Given the description of an element on the screen output the (x, y) to click on. 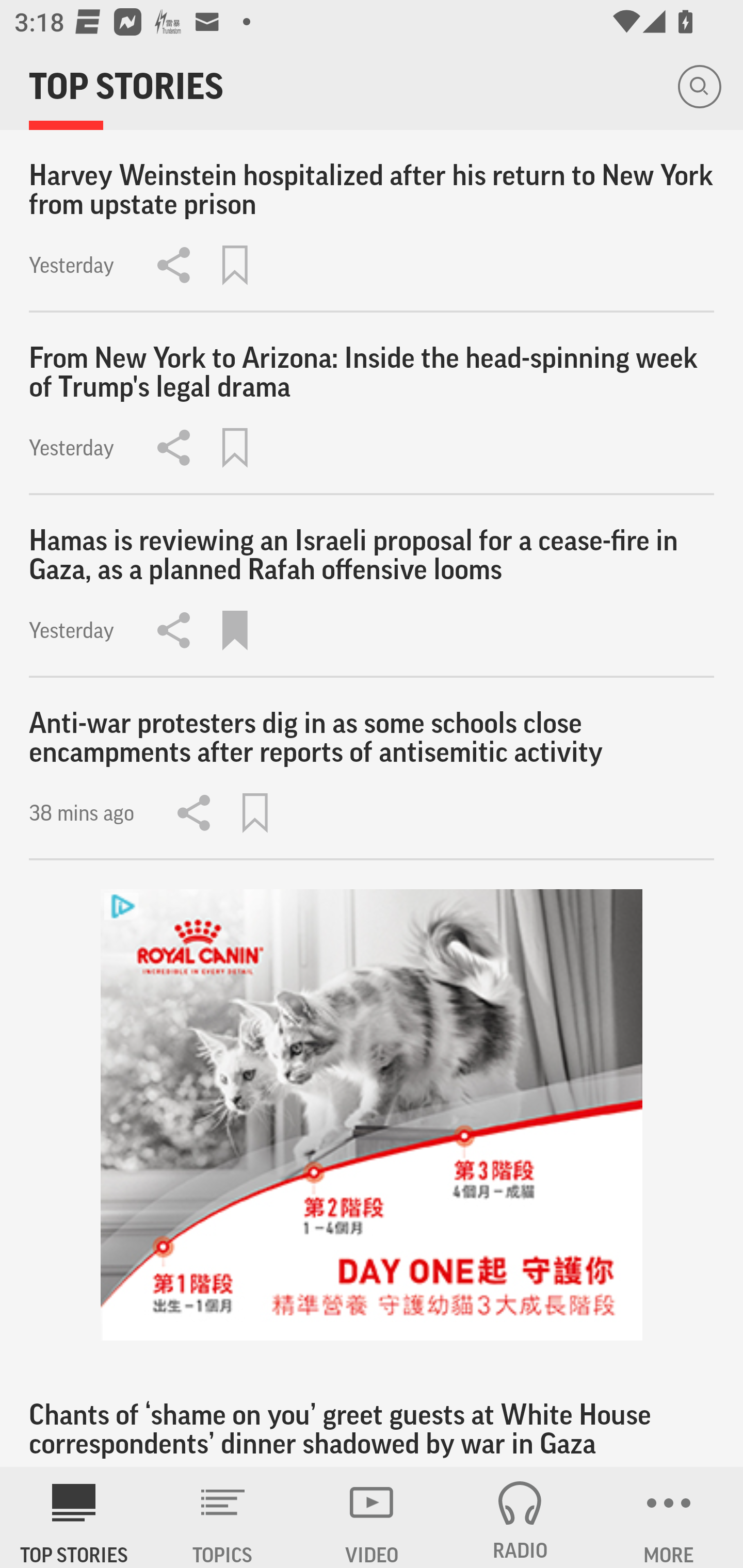
AP News TOP STORIES (74, 1517)
TOPICS (222, 1517)
VIDEO (371, 1517)
RADIO (519, 1517)
MORE (668, 1517)
